Given the description of an element on the screen output the (x, y) to click on. 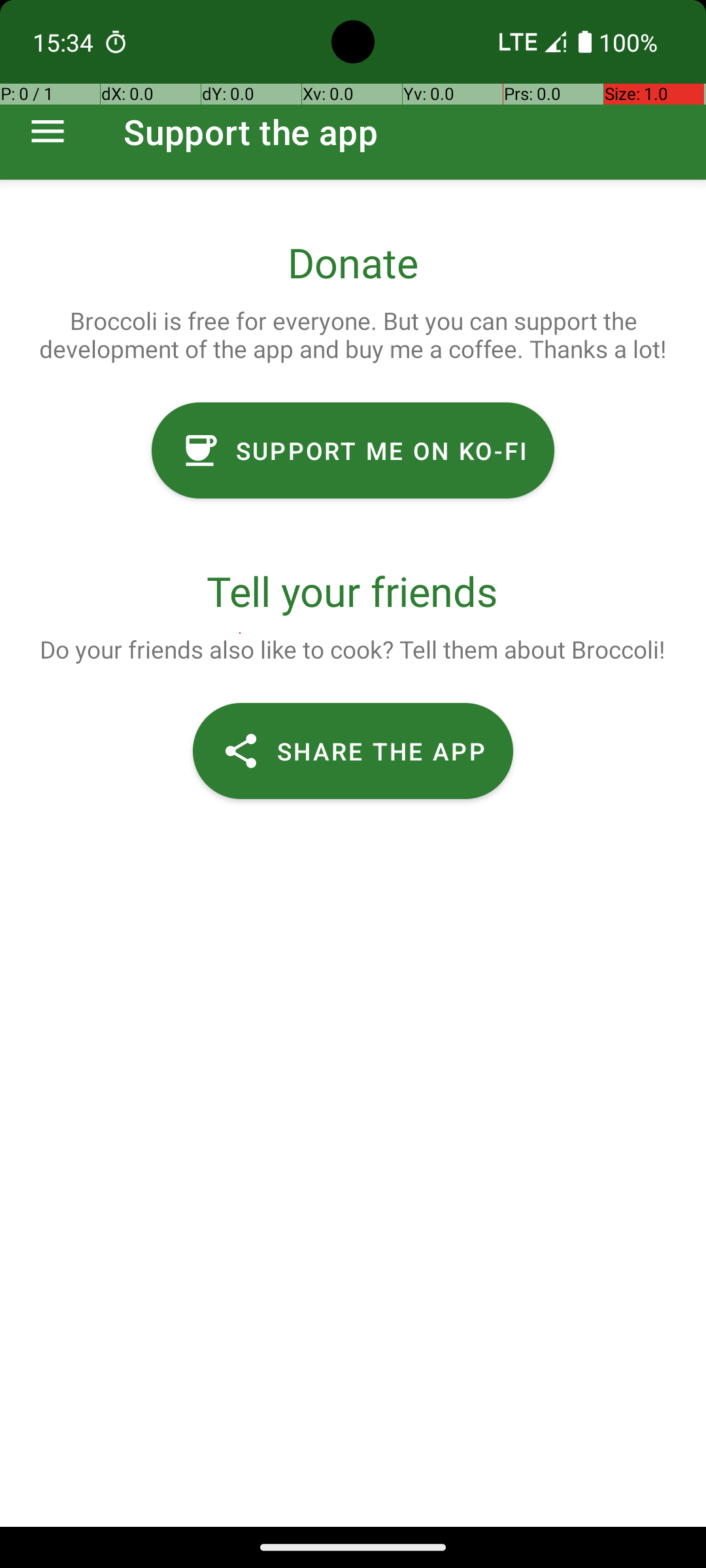
Broccoli is free for everyone. But you can support the development of the app and buy me a coffee. Thanks a lot! Element type: android.widget.TextView (352, 334)
SUPPORT ME ON KO-FI Element type: android.widget.Button (352, 450)
Tell your friends Element type: android.widget.TextView (352, 590)
Do your friends also like to cook? Tell them about Broccoli! Element type: android.widget.TextView (352, 648)
SHARE THE APP Element type: android.widget.Button (352, 750)
